Given the description of an element on the screen output the (x, y) to click on. 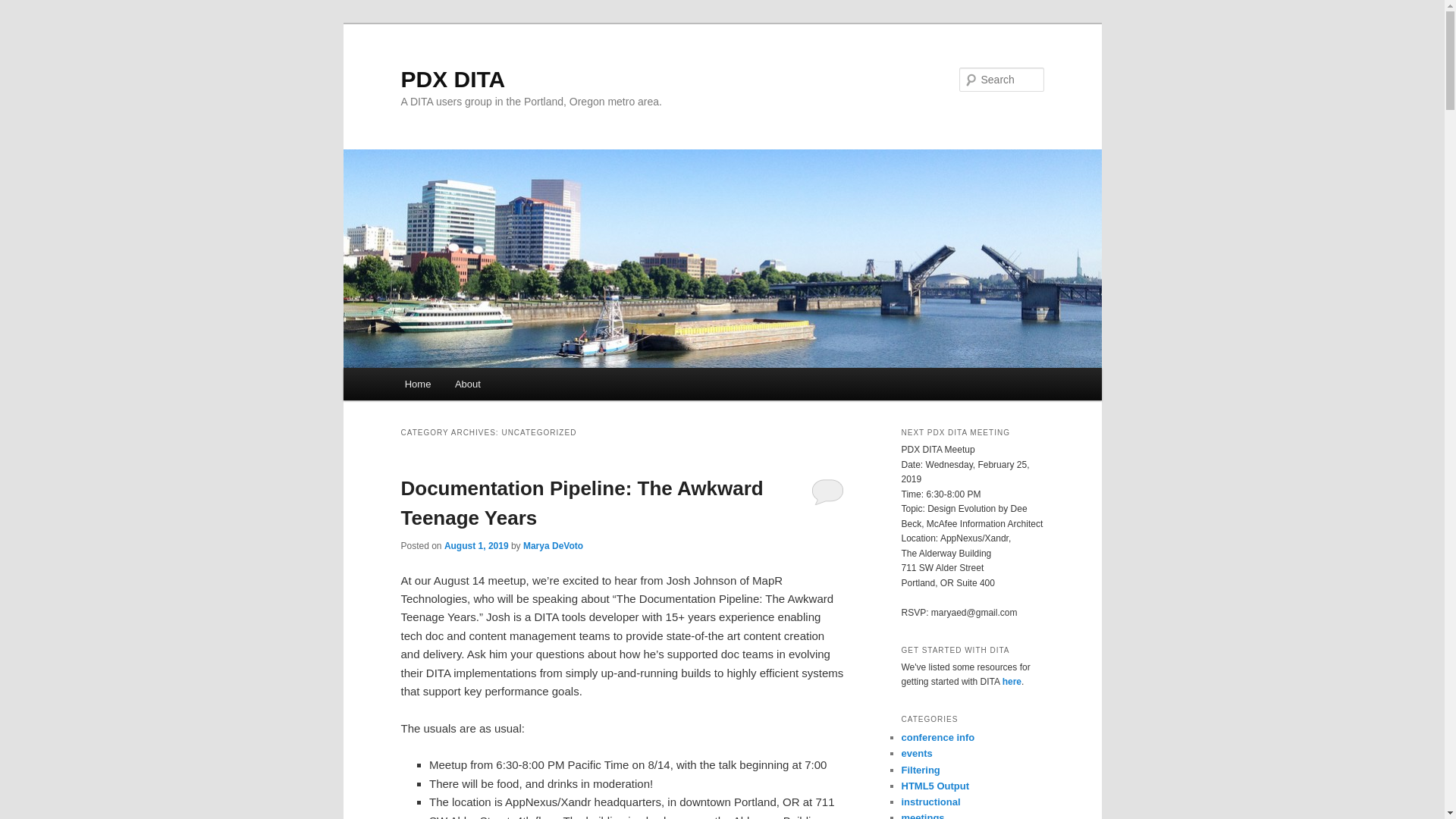
Marya DeVoto (552, 545)
Home (417, 383)
About (467, 383)
August 1, 2019 (476, 545)
Documentation Pipeline: The Awkward Teenage Years (581, 502)
2:41 pm (476, 545)
View all posts by Marya DeVoto (552, 545)
Search (24, 8)
PDX DITA (452, 78)
